Given the description of an element on the screen output the (x, y) to click on. 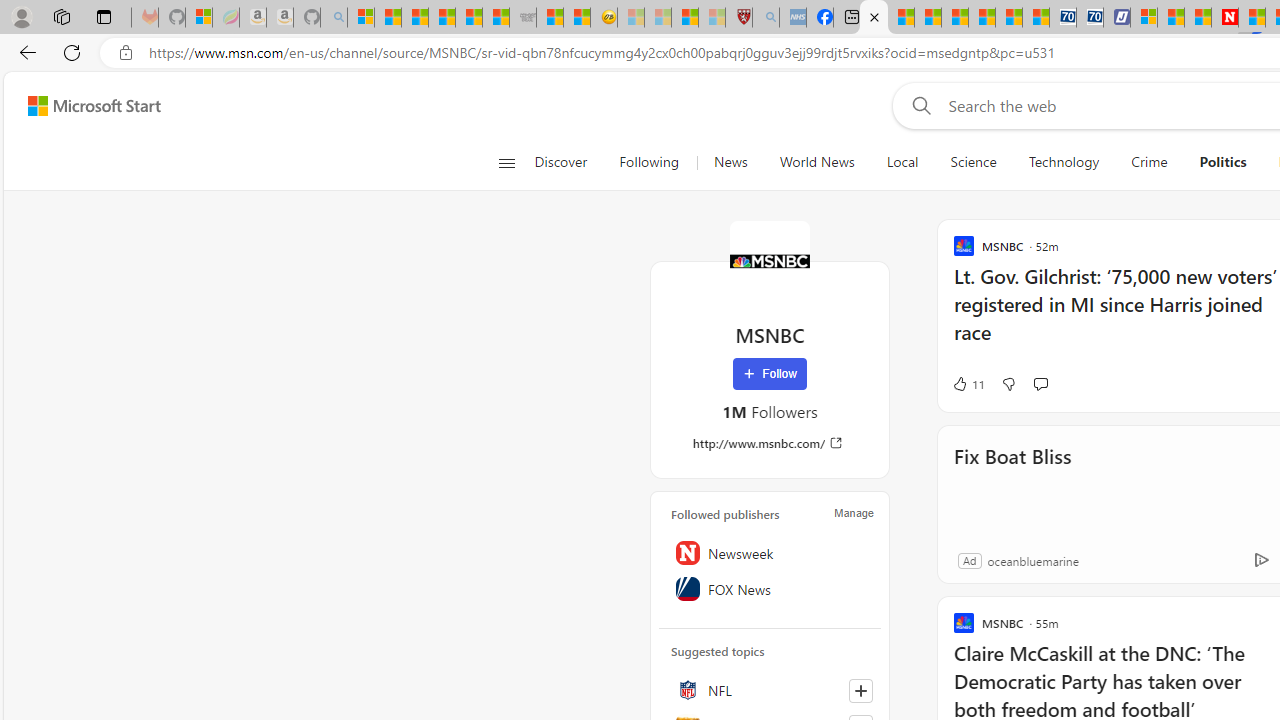
Follow this topic (860, 690)
Combat Siege (522, 17)
Skip to content (86, 105)
list of asthma inhalers uk - Search - Sleeping (765, 17)
Microsoft-Report a Concern to Bing (198, 17)
Technology (1064, 162)
Science - MSN (684, 17)
Discover (560, 162)
Skip to footer (82, 105)
Follow (769, 373)
Follow this topic (860, 690)
Open navigation menu (506, 162)
